Given the description of an element on the screen output the (x, y) to click on. 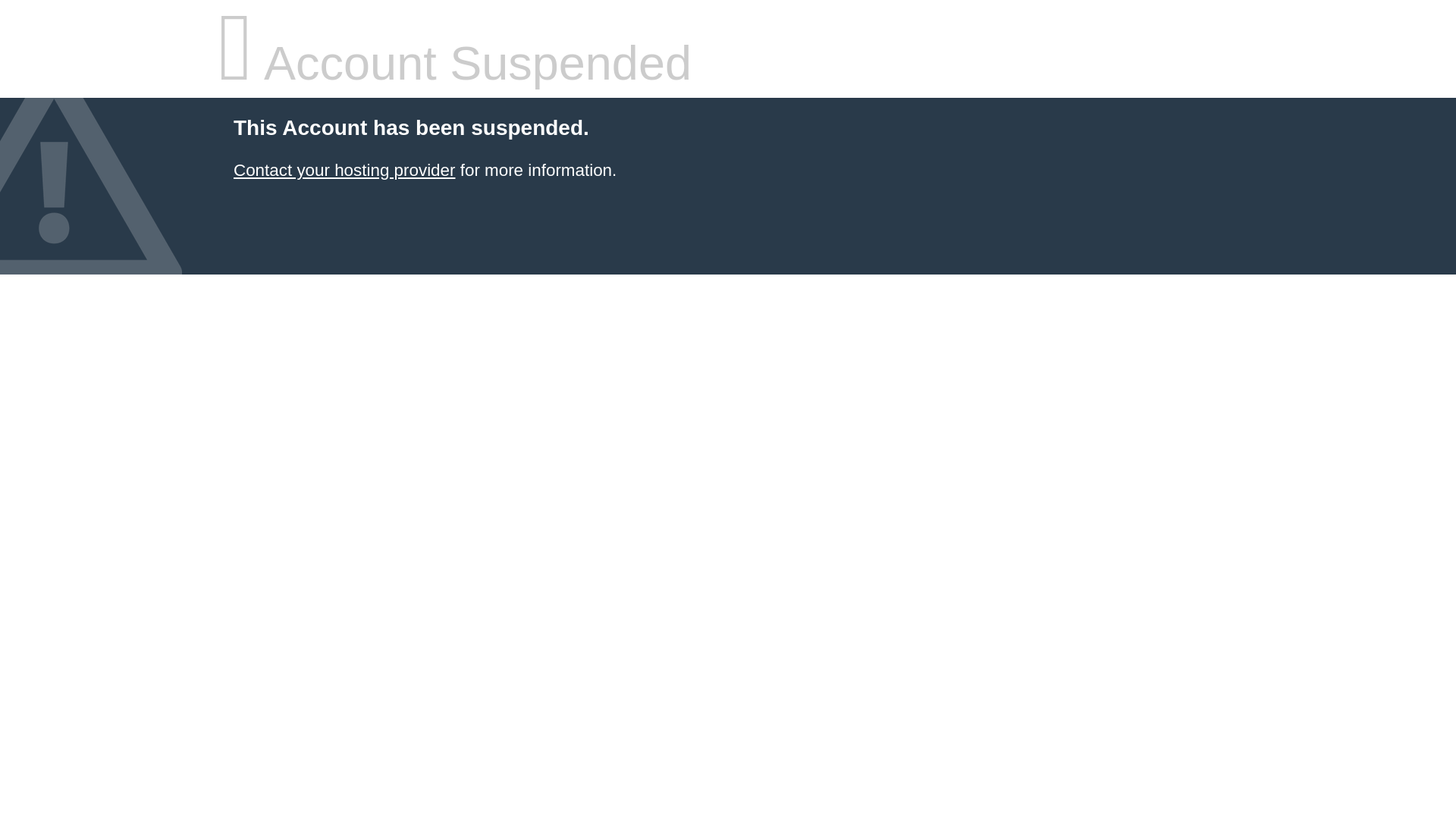
Contact your hosting provider (343, 169)
